Given the description of an element on the screen output the (x, y) to click on. 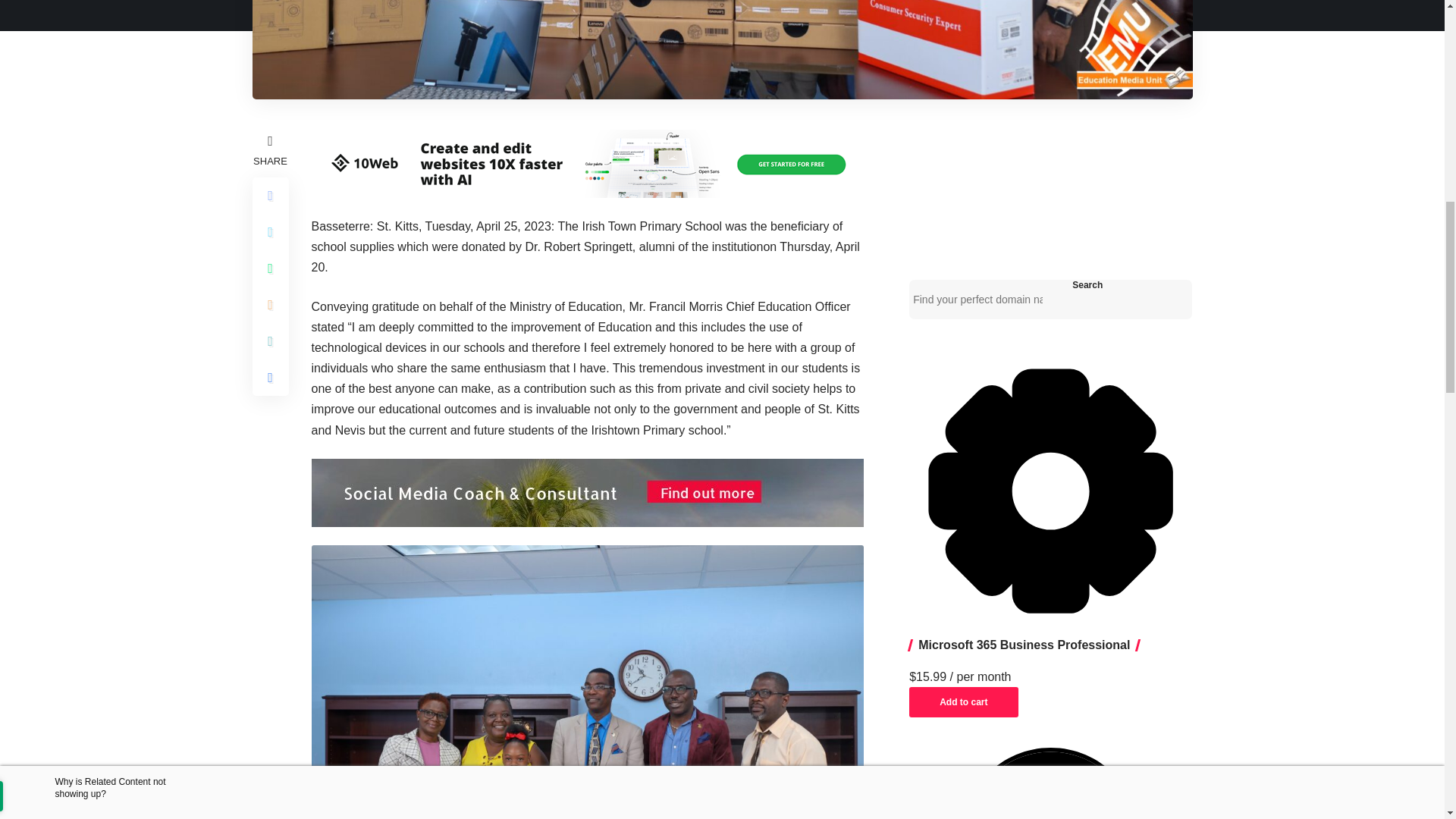
Search (1087, 285)
Additional Products (1050, 490)
WordPress (1050, 783)
Search (1087, 285)
